Given the description of an element on the screen output the (x, y) to click on. 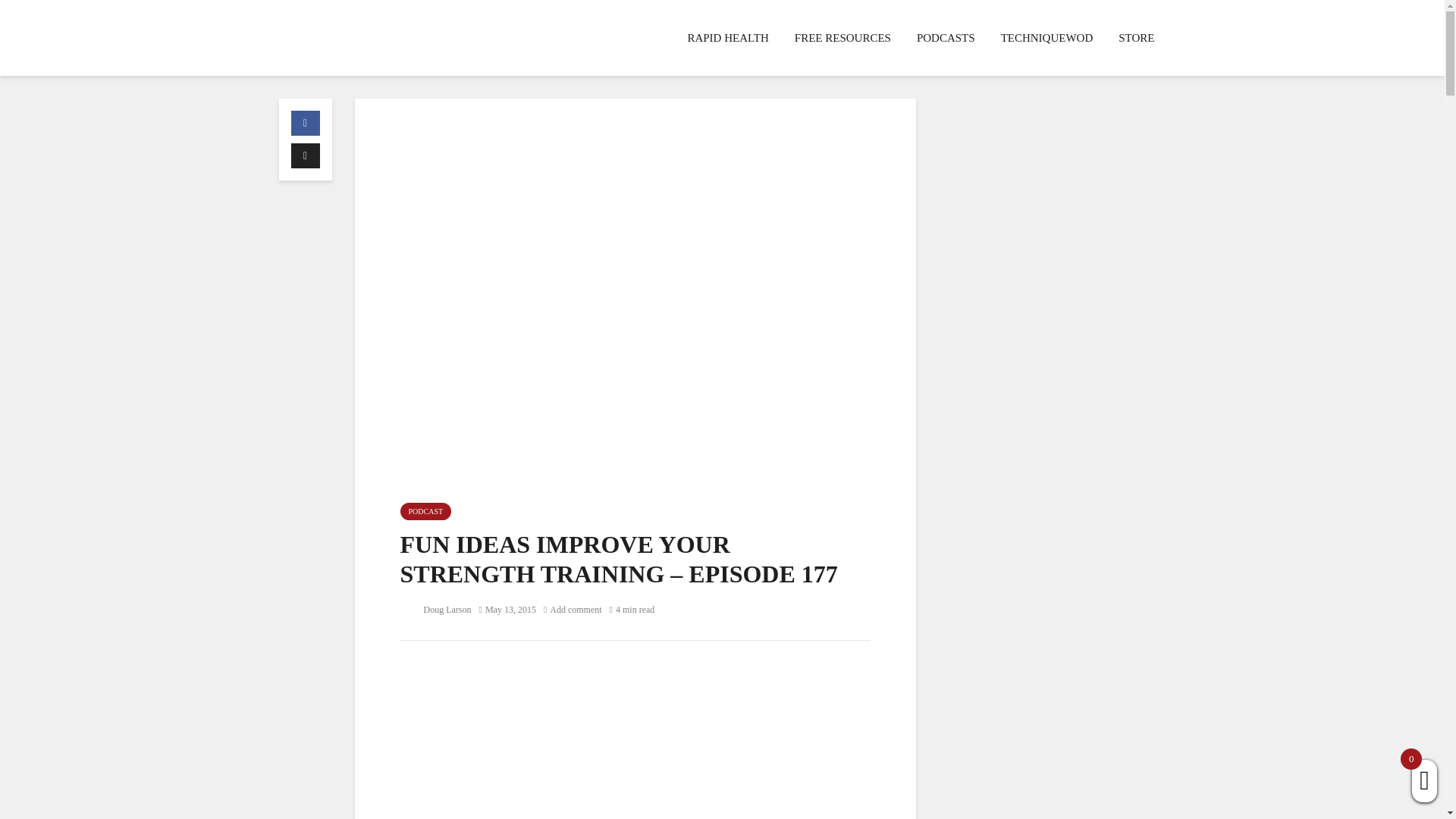
PODCASTS (946, 37)
Add comment (572, 609)
RAPID HEALTH (726, 37)
Doug Larson (435, 609)
STORE (1136, 37)
TECHNIQUEWOD (1047, 37)
PODCAST (425, 511)
FREE RESOURCES (842, 37)
